Given the description of an element on the screen output the (x, y) to click on. 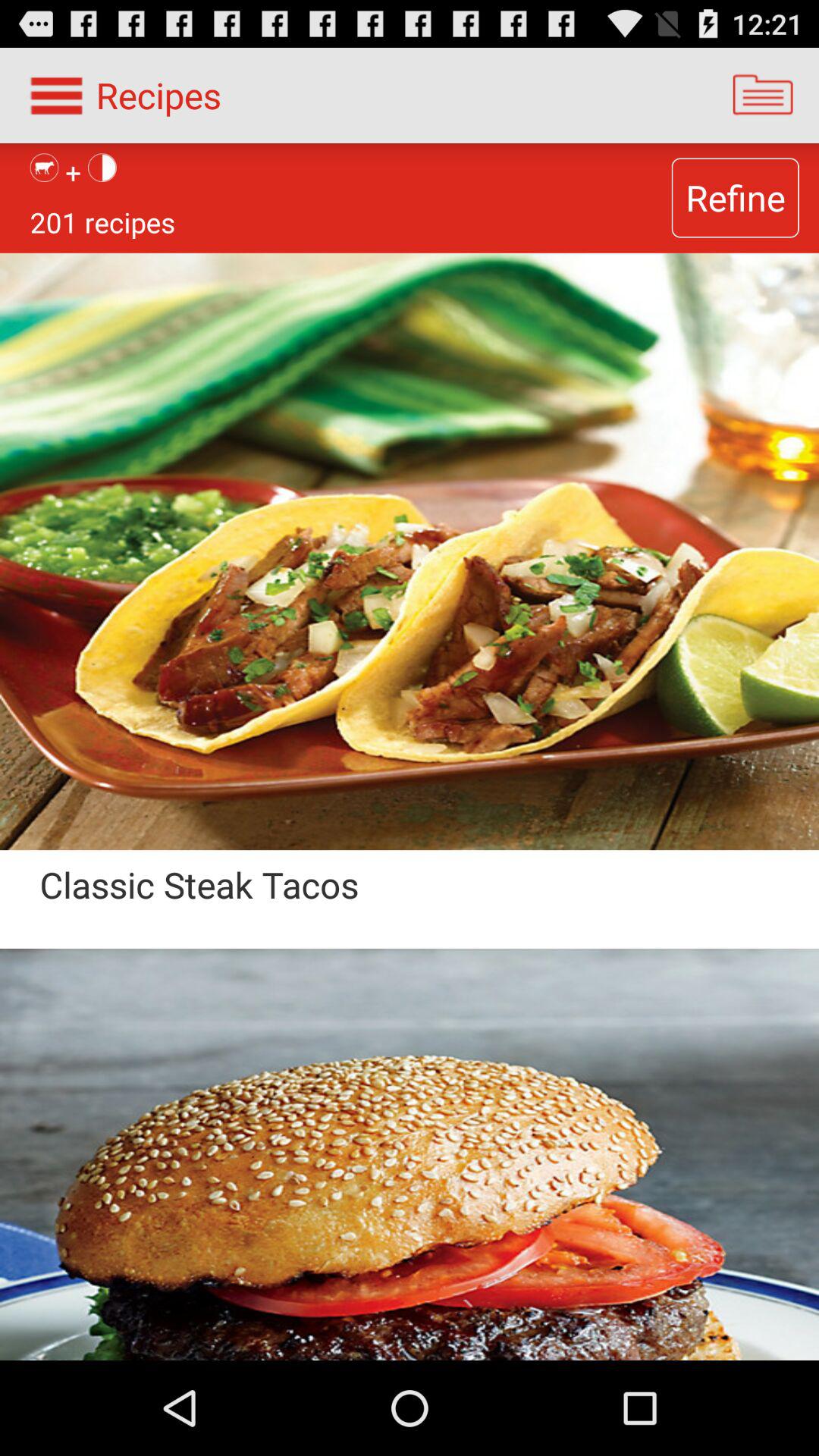
select the refine item (735, 197)
